Given the description of an element on the screen output the (x, y) to click on. 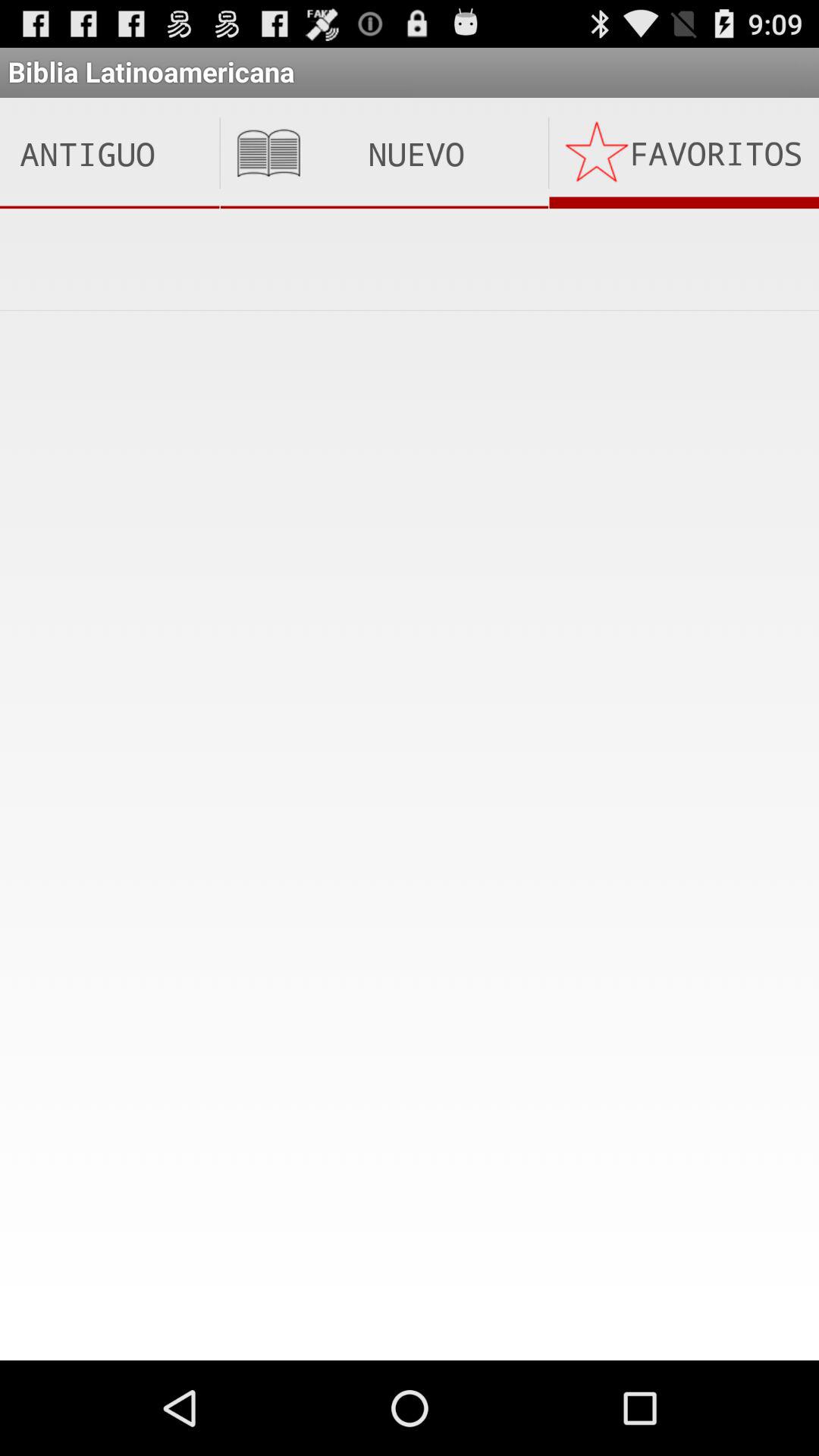
click item at the top left corner (109, 152)
